Given the description of an element on the screen output the (x, y) to click on. 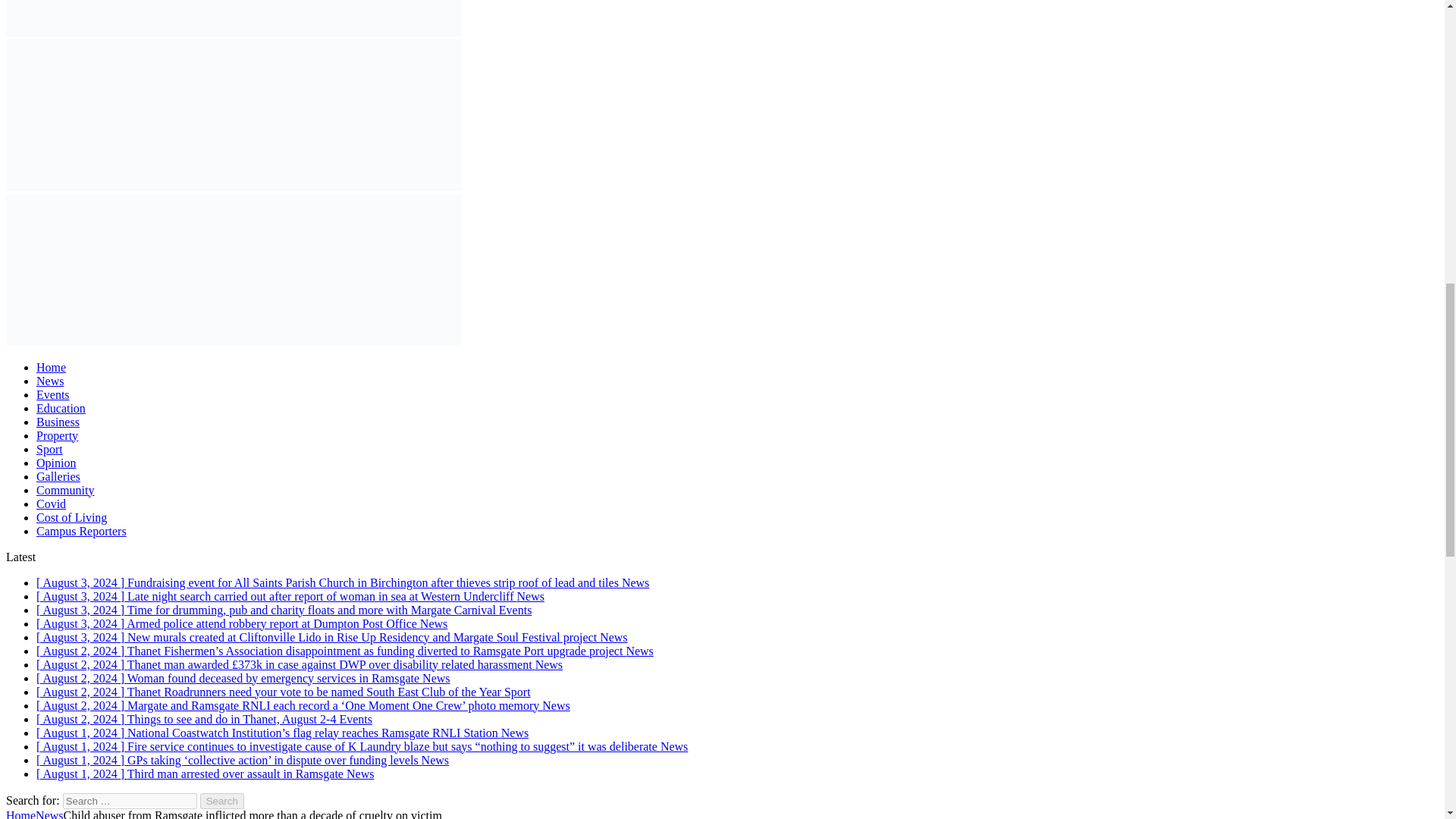
Community (65, 490)
Covid (50, 503)
Galleries (58, 476)
Education (60, 408)
Property (57, 435)
News (50, 380)
Business (58, 421)
Woman found deceased by emergency services in Ramsgate (242, 677)
Cost of Living (71, 517)
Campus Reporters (81, 530)
Home (50, 367)
Sport (49, 449)
